Given the description of an element on the screen output the (x, y) to click on. 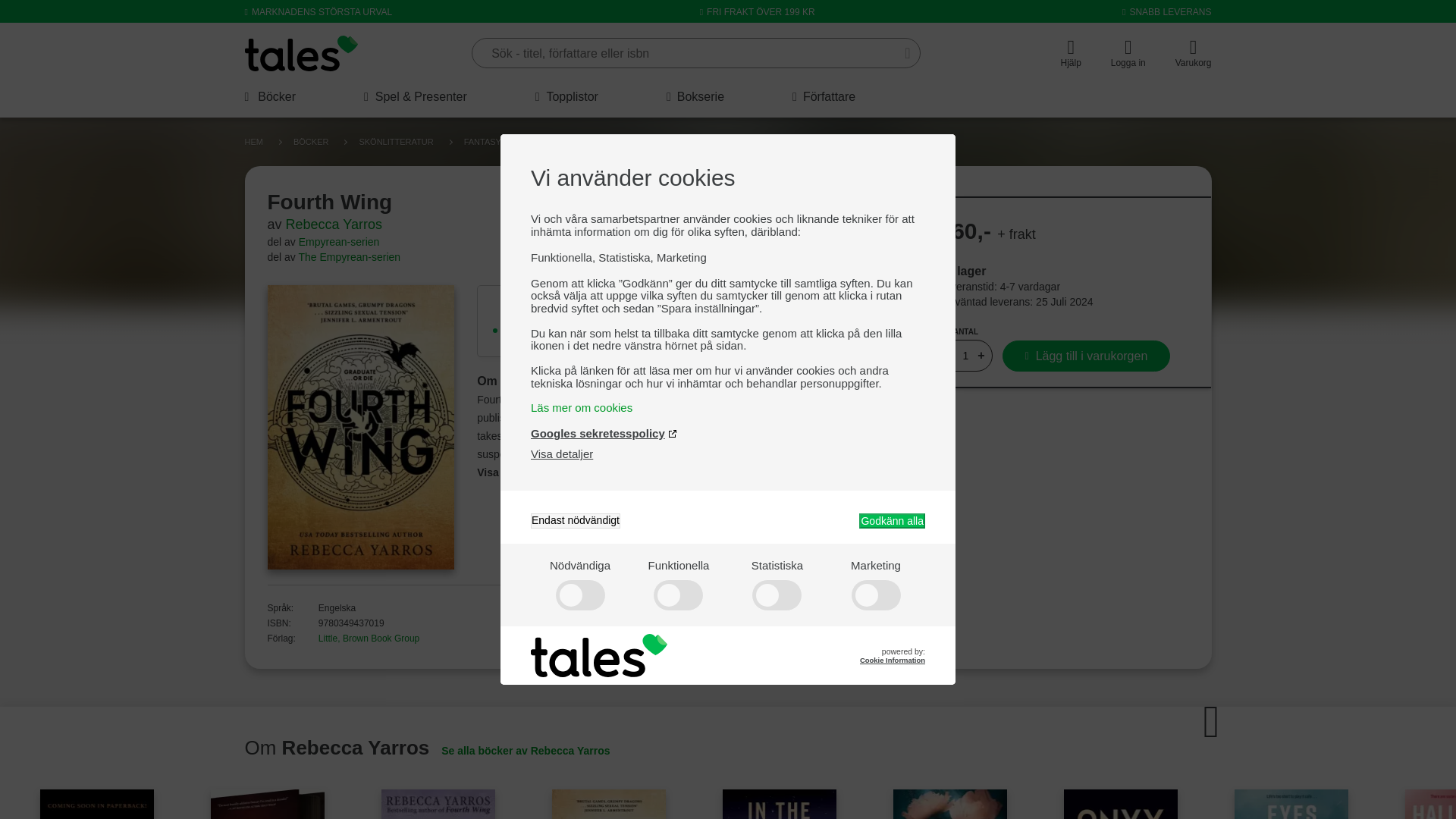
Googles sekretesspolicy (604, 432)
Visa detaljer (561, 453)
